Given the description of an element on the screen output the (x, y) to click on. 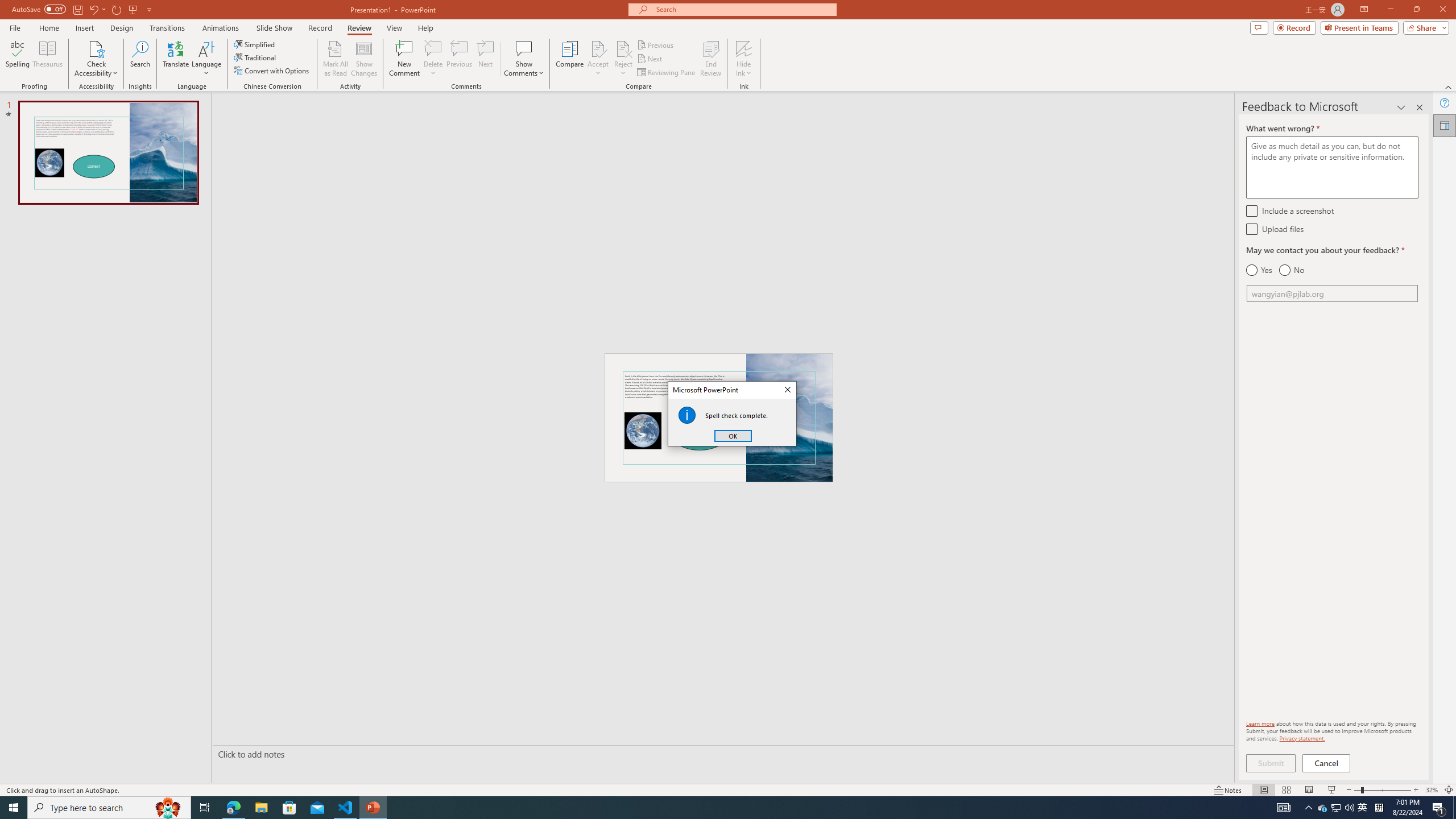
Spelling... (17, 58)
Show Comments (524, 58)
Translate (175, 58)
